Given the description of an element on the screen output the (x, y) to click on. 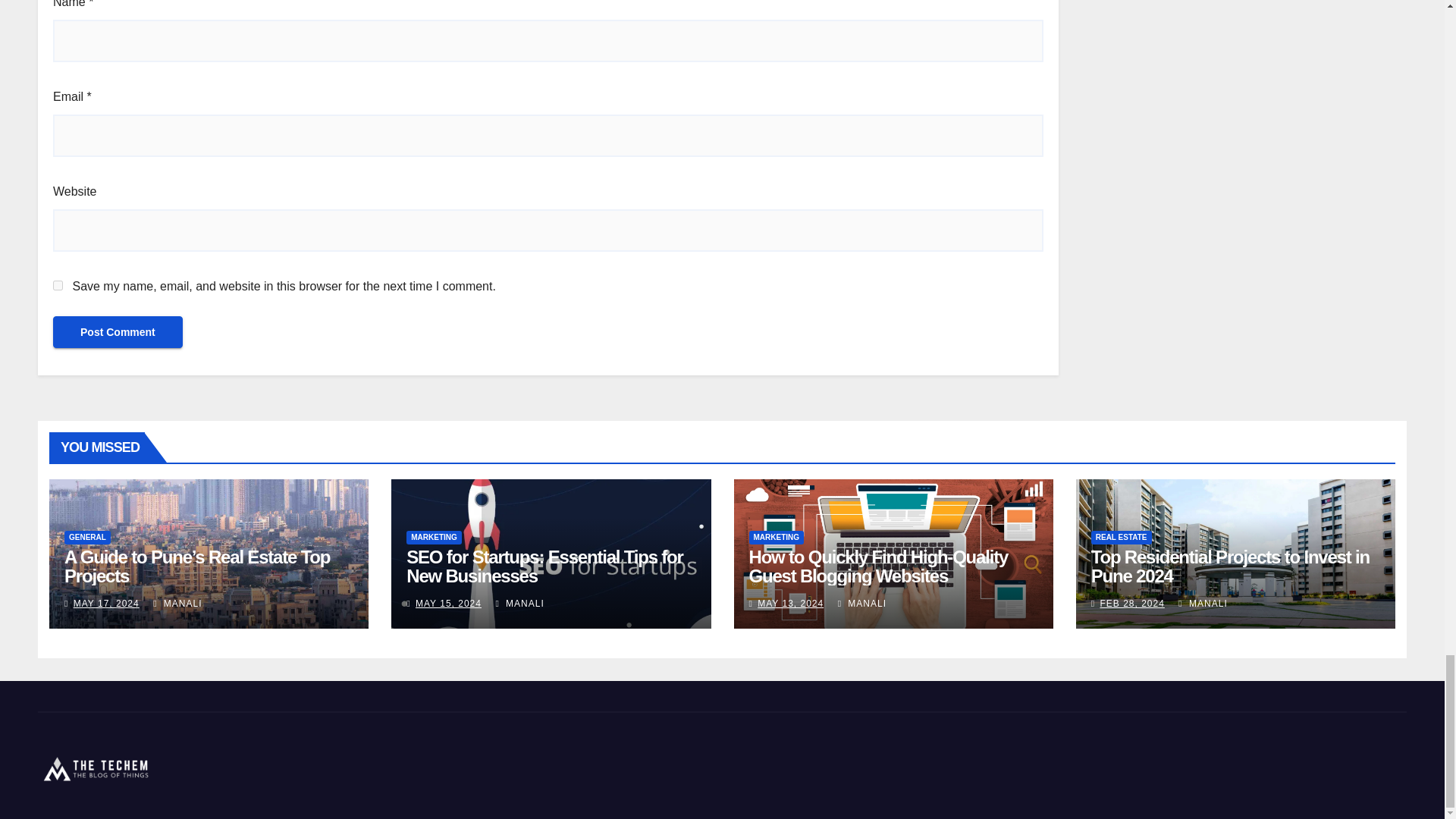
yes (57, 285)
Post Comment (117, 332)
